Given the description of an element on the screen output the (x, y) to click on. 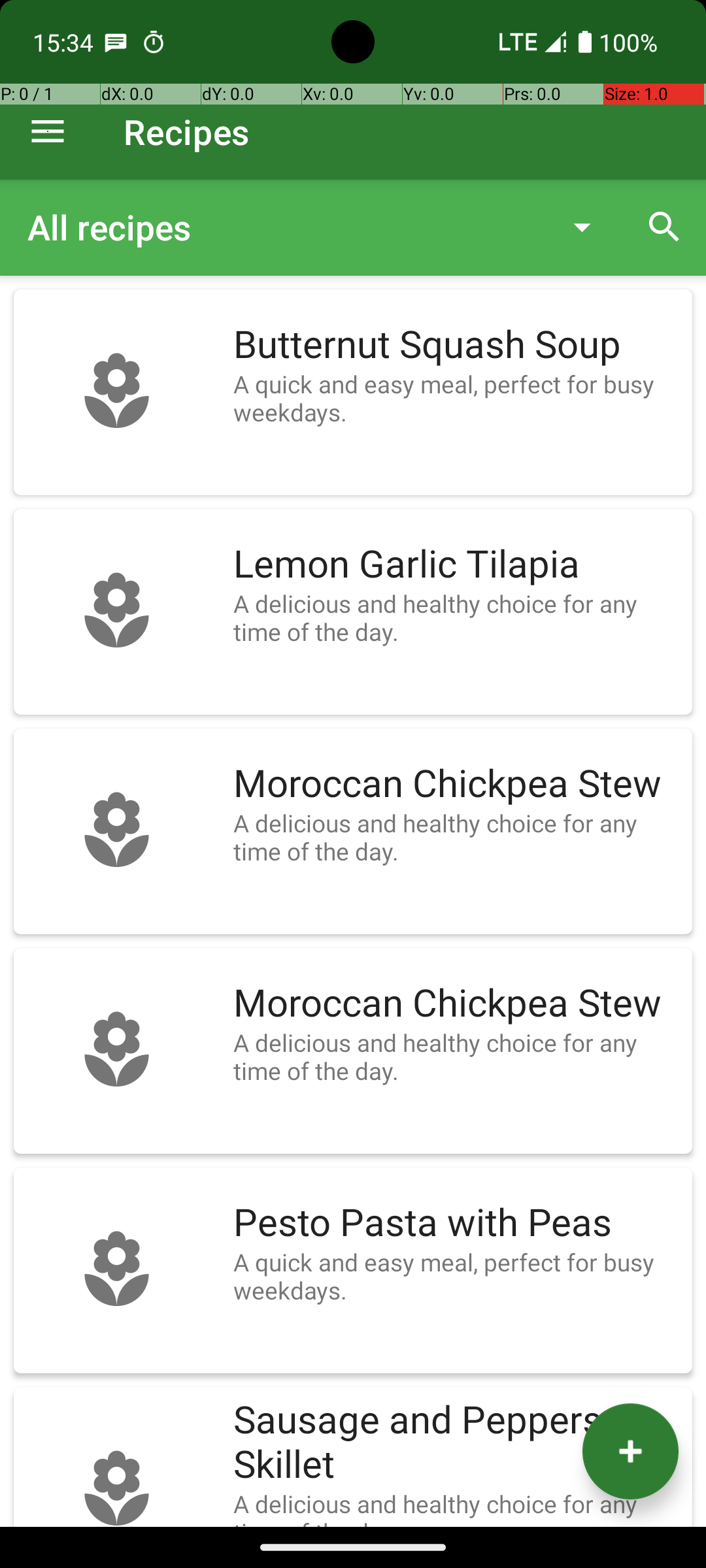
Sausage and Peppers Skillet Element type: android.widget.TextView (455, 1442)
